Given the description of an element on the screen output the (x, y) to click on. 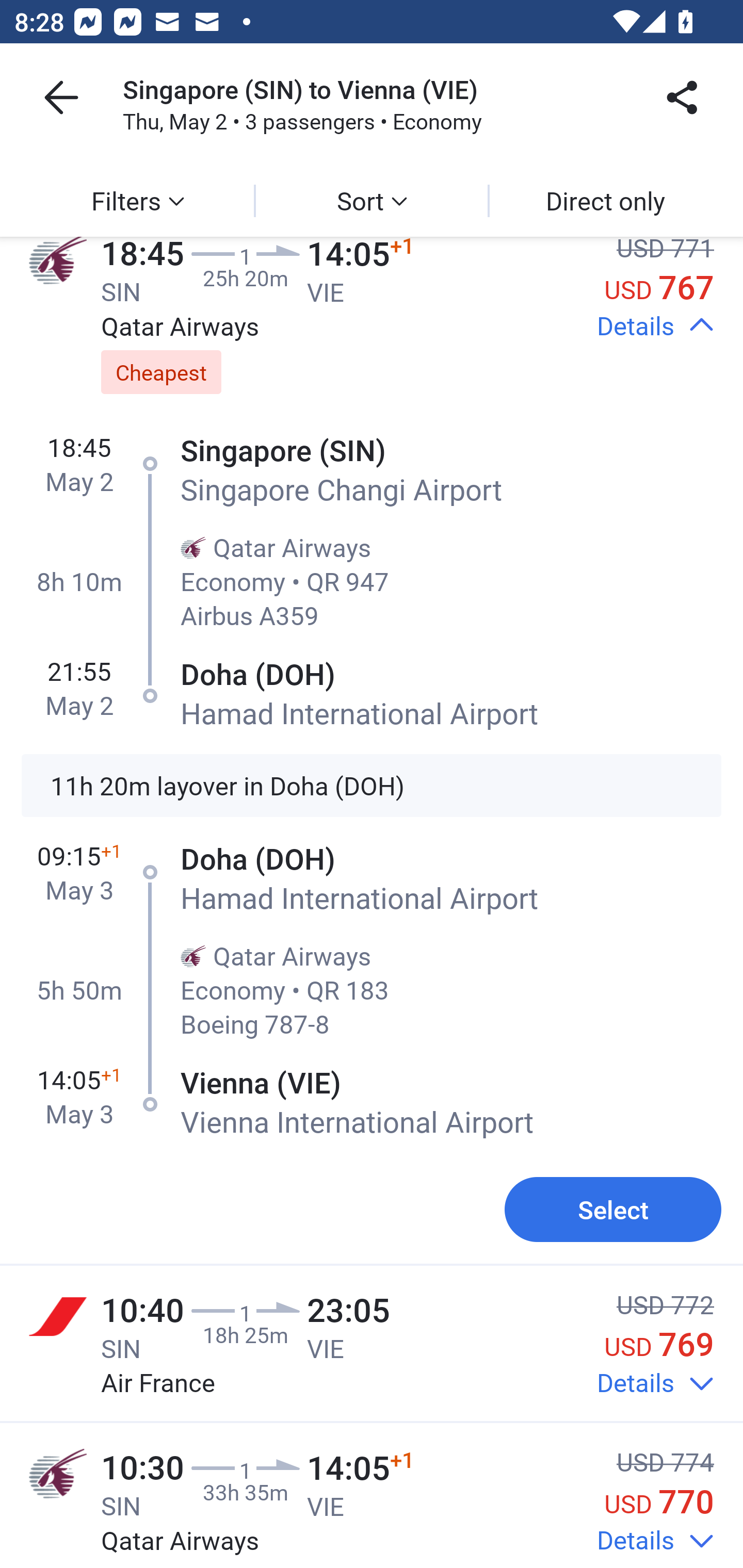
Filters (137, 200)
Sort (371, 200)
Direct only (605, 200)
Select (612, 1209)
